Given the description of an element on the screen output the (x, y) to click on. 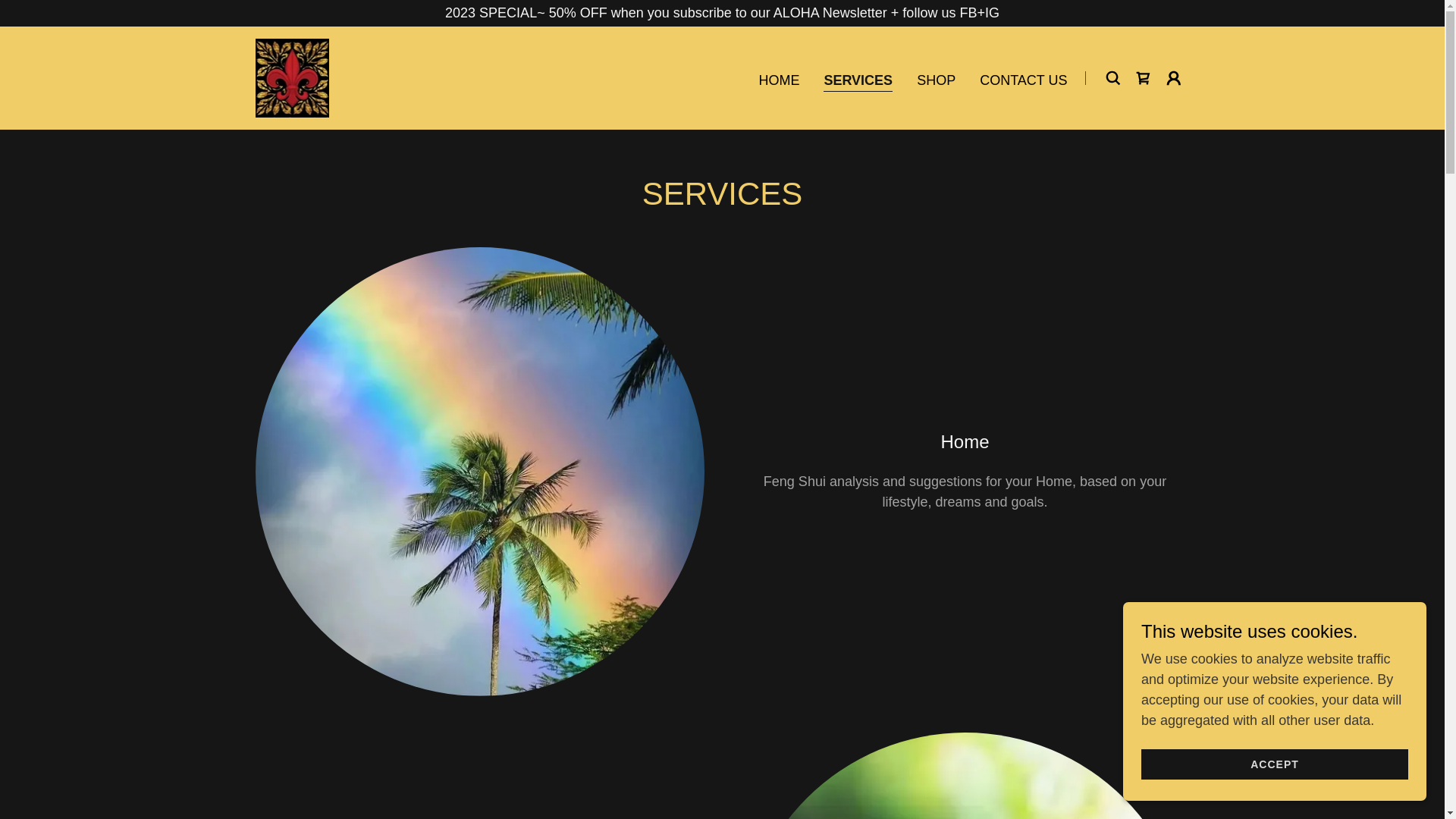
CONTACT US (1023, 80)
SERVICES (858, 81)
SHOP (935, 80)
ACCEPT (1274, 764)
HOME (778, 80)
